Given the description of an element on the screen output the (x, y) to click on. 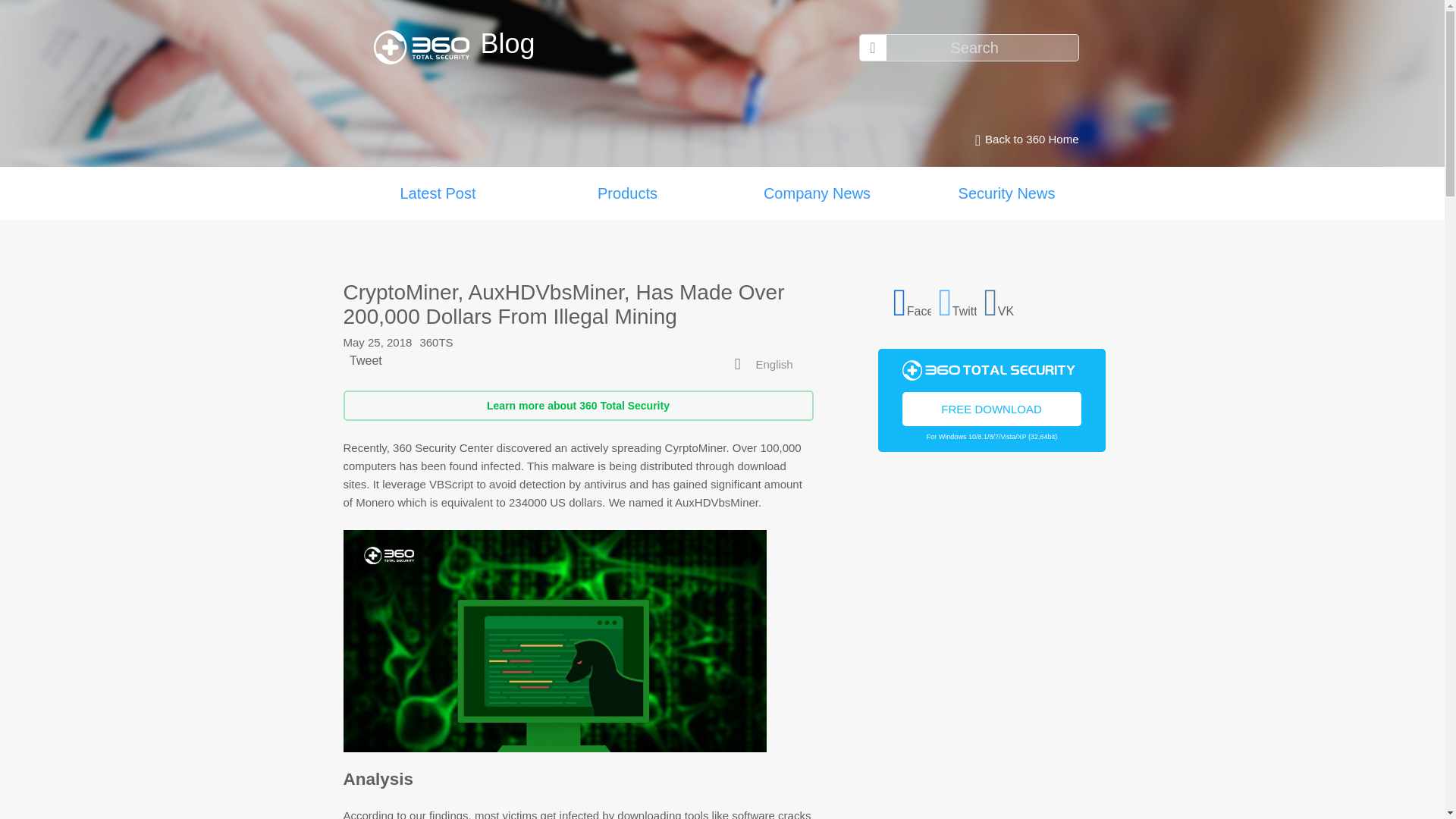
Learn more about 360 Total Security (577, 405)
Latest Post (437, 193)
Products (627, 193)
360 Total Security Blog Logo (426, 47)
Learn more about 360 Total Security (577, 405)
Tweet (365, 359)
Facebook (912, 299)
Twitter (957, 299)
FREE DOWNLOAD (991, 408)
Advertisement (991, 650)
VK (1003, 299)
Security News (1005, 193)
Free Download (991, 408)
Back to 360 Home (1022, 140)
Company News (816, 193)
